Given the description of an element on the screen output the (x, y) to click on. 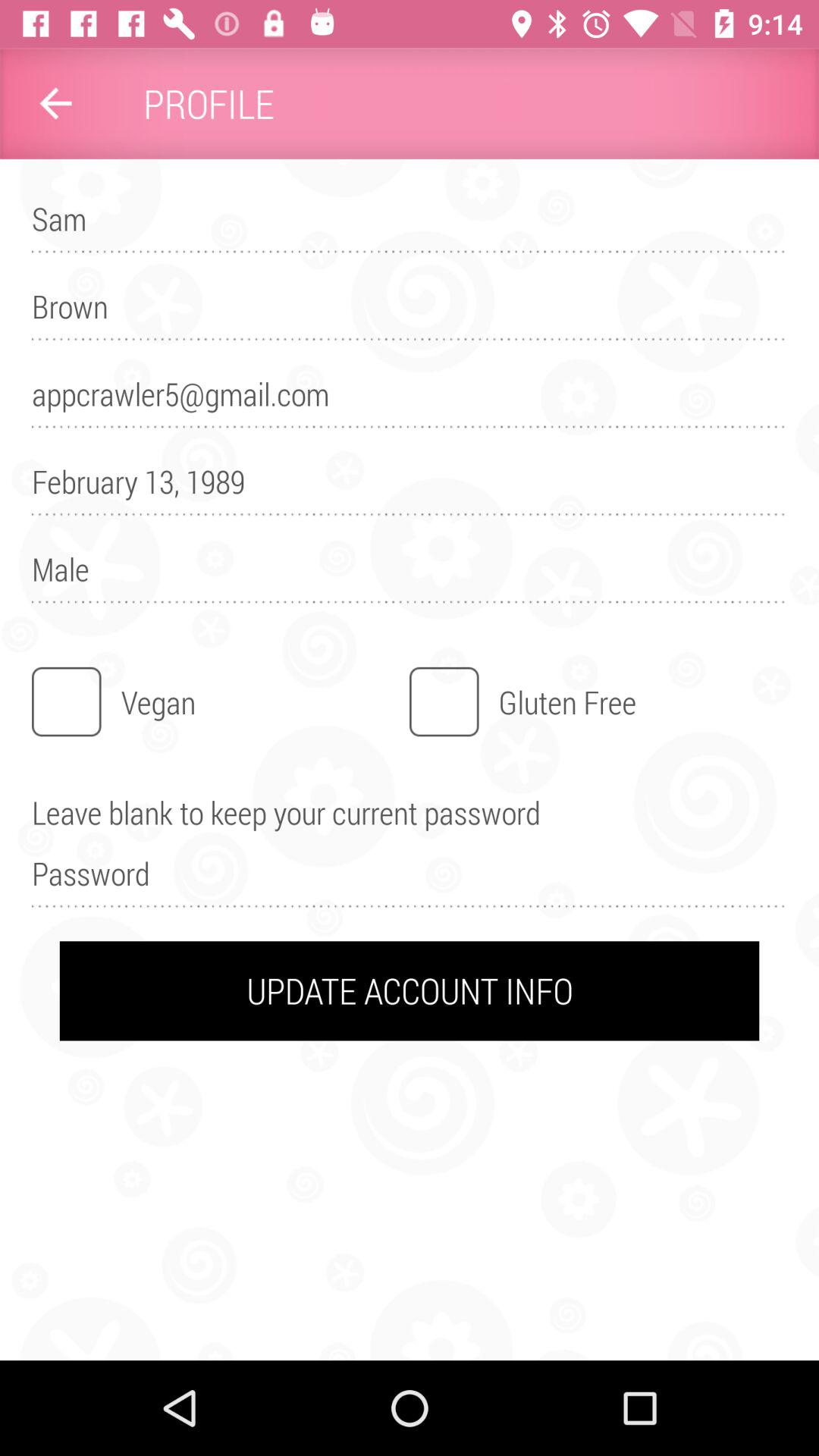
choose item next to the profile app (55, 103)
